Given the description of an element on the screen output the (x, y) to click on. 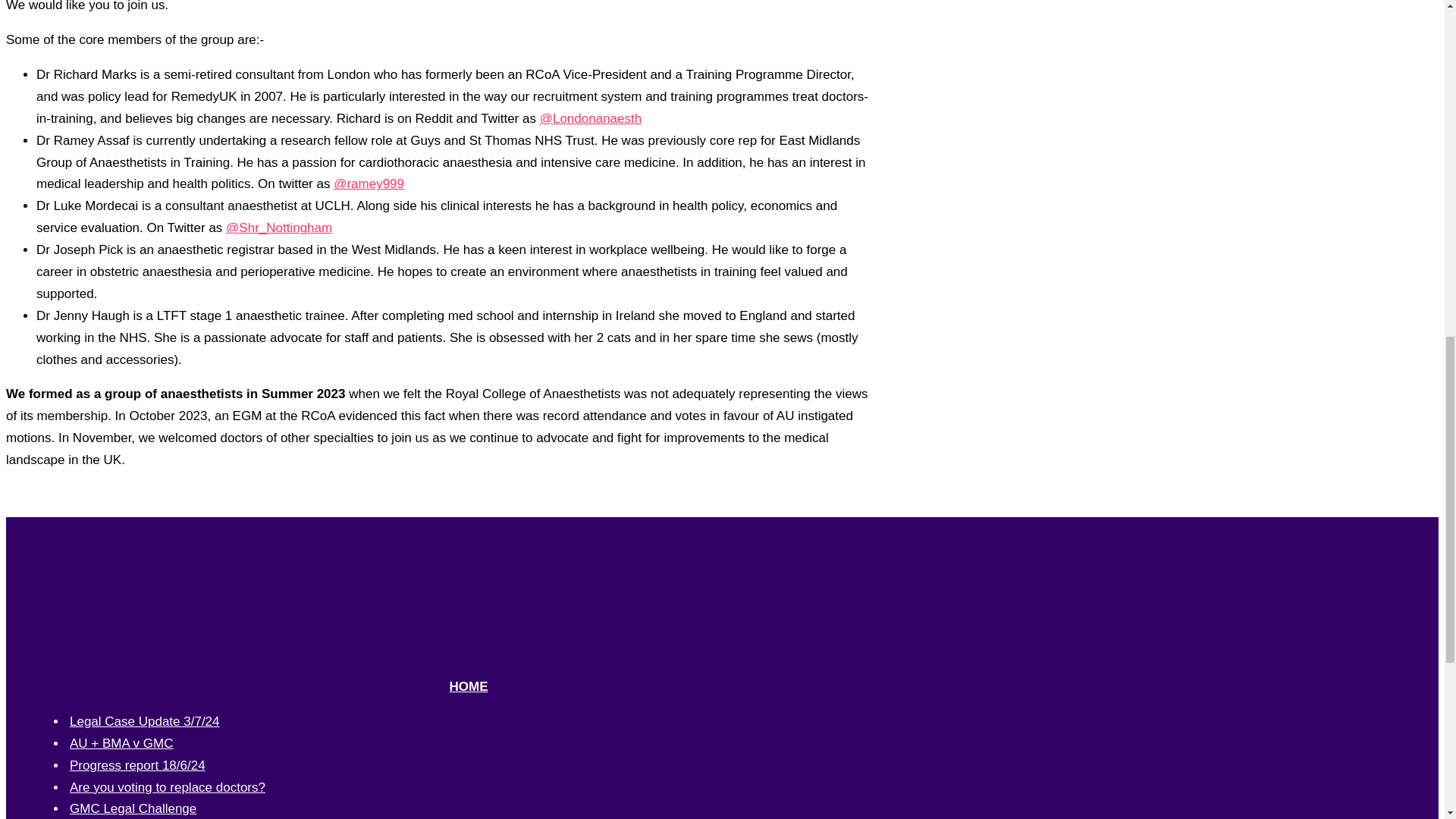
GMC Legal Challenge (132, 807)
Scroll back to top (1406, 720)
HOME (467, 686)
Are you voting to replace doctors? (166, 787)
